Given the description of an element on the screen output the (x, y) to click on. 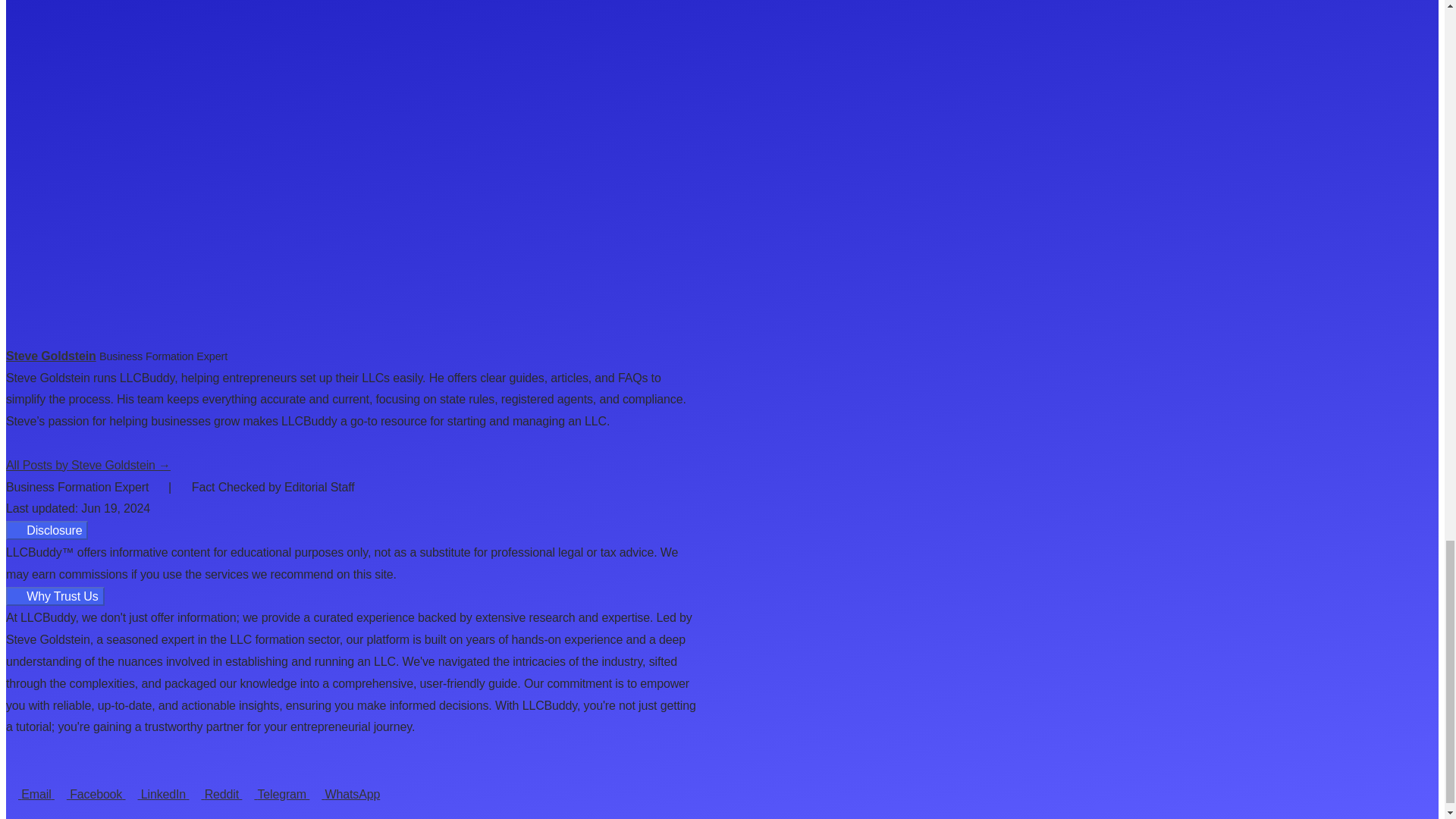
View all posts by Steve Goldstein (50, 355)
